Given the description of an element on the screen output the (x, y) to click on. 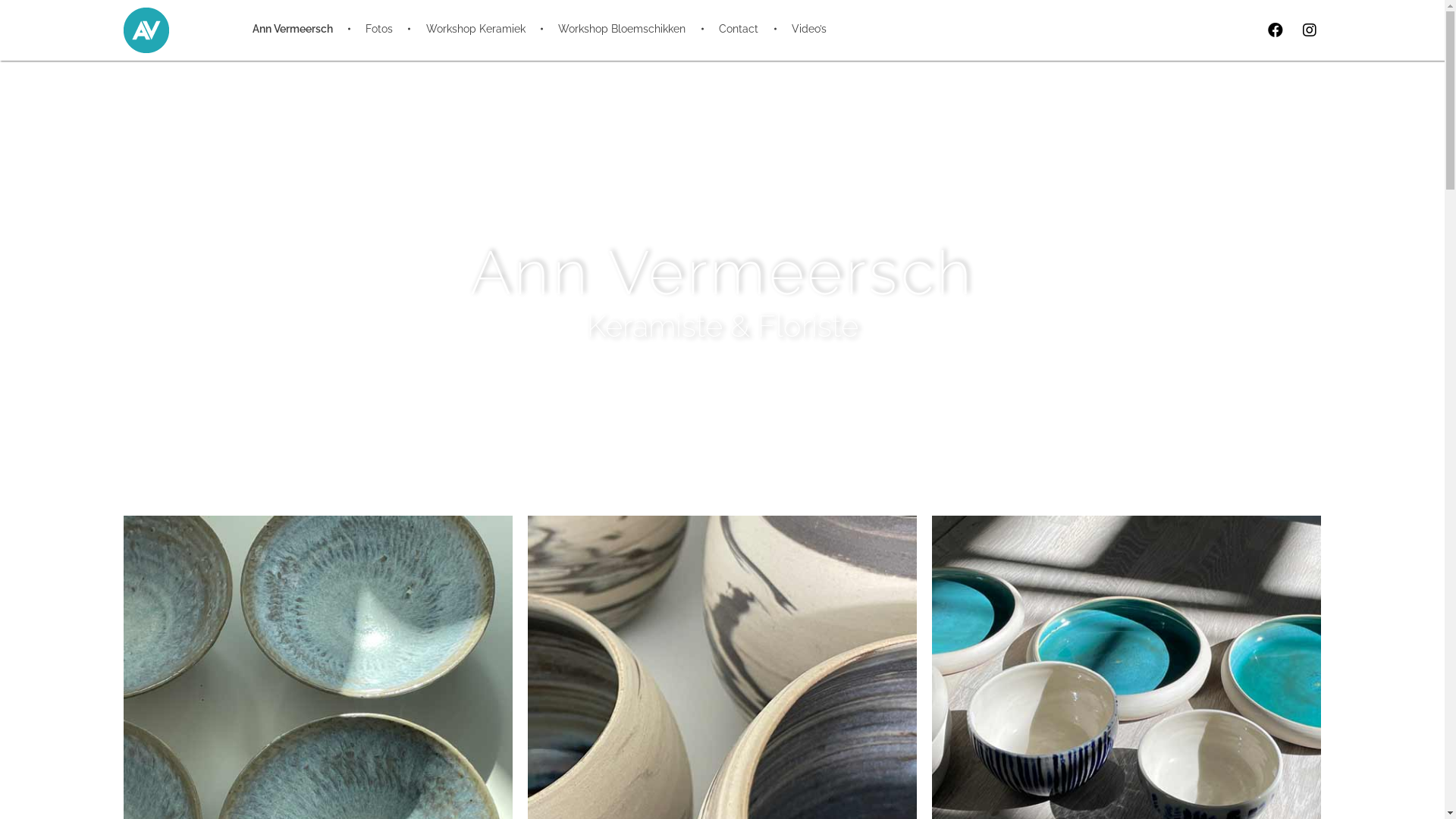
Workshop Bloemschikken Element type: text (624, 29)
Ann Vermeersch Element type: text (301, 29)
Workshop Keramiek Element type: text (477, 29)
Fotos Element type: text (381, 29)
Contact Element type: text (741, 29)
